Given the description of an element on the screen output the (x, y) to click on. 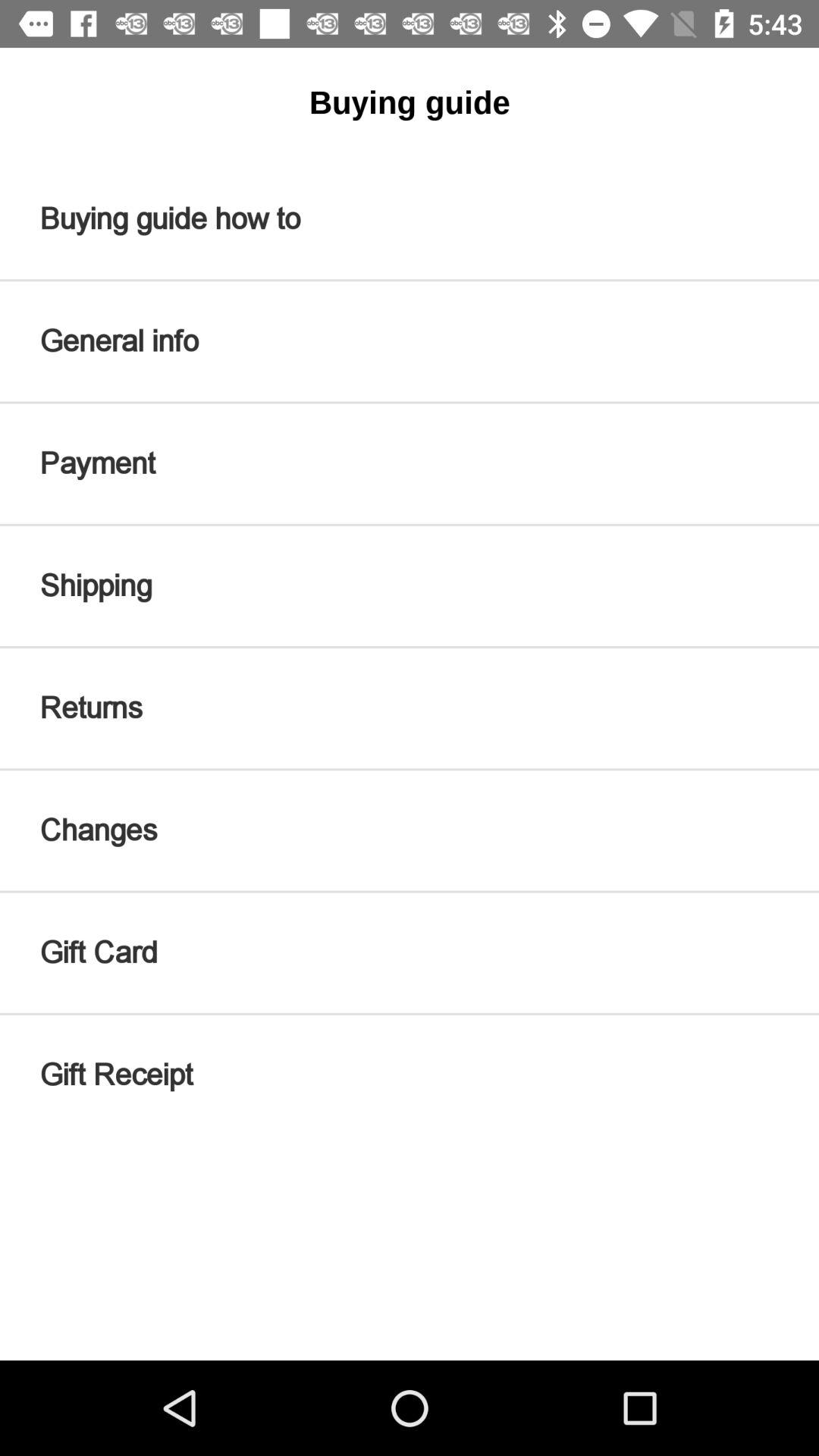
turn on the icon below buying guide how item (409, 341)
